Given the description of an element on the screen output the (x, y) to click on. 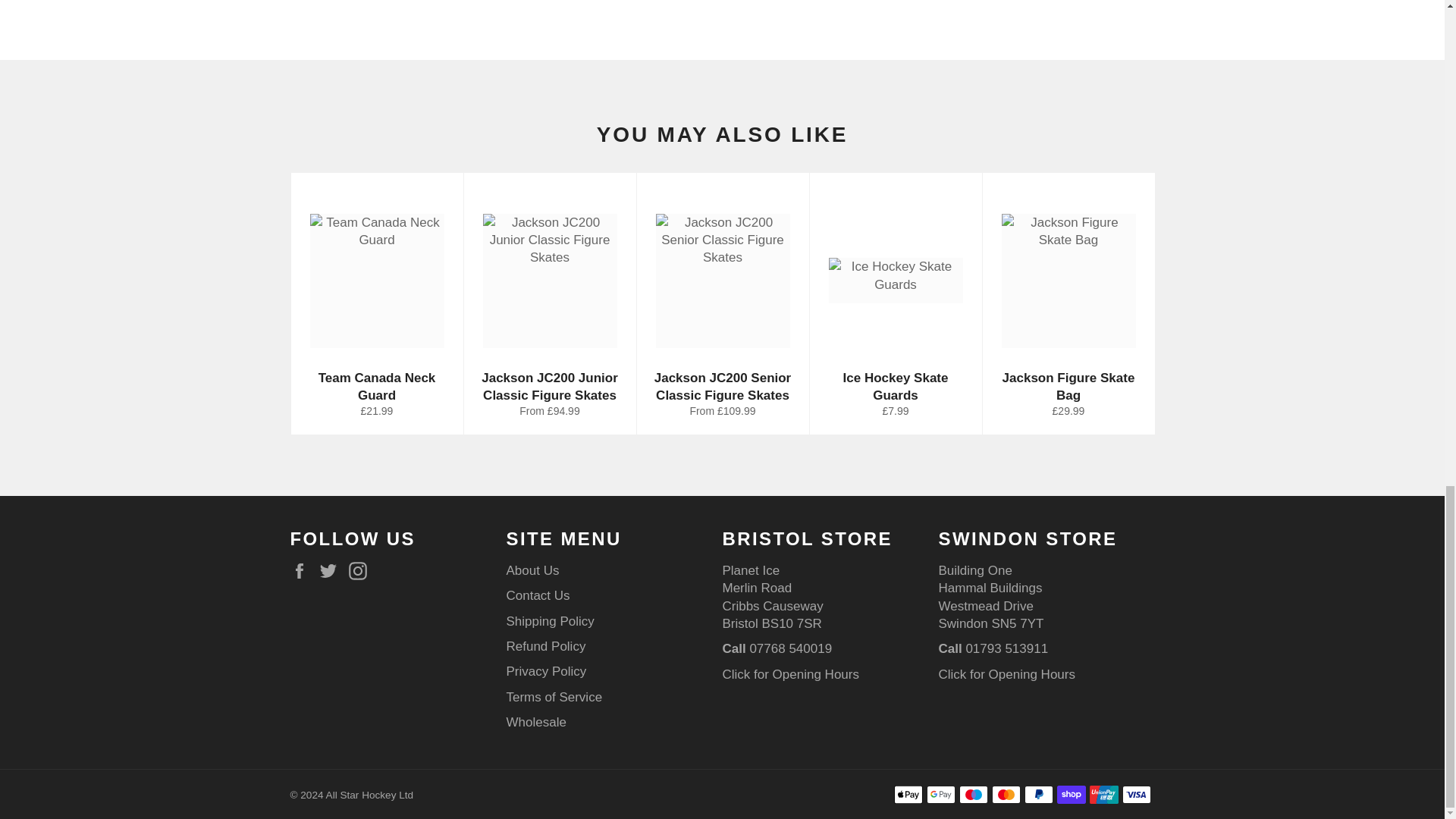
All Star Hockey Ltd on Facebook (302, 570)
Contact Us (1007, 674)
All Star Hockey Ltd on Instagram (361, 570)
Contact Us (790, 674)
All Star Hockey Ltd on Twitter (331, 570)
